Given the description of an element on the screen output the (x, y) to click on. 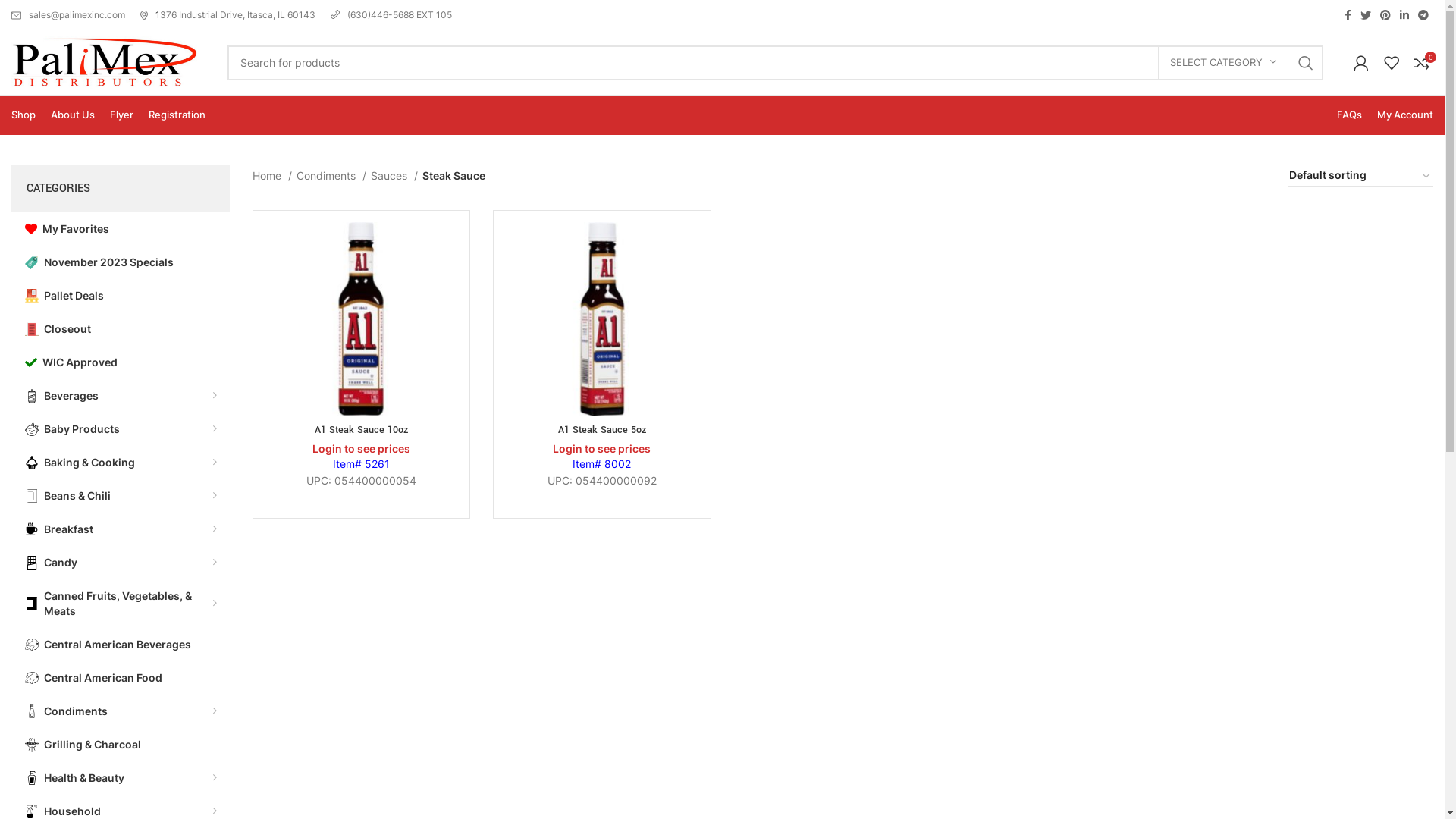
price-tag-svgrepo-com Element type: hover (31, 262)
Beverages Element type: text (120, 395)
door-svgrepo-com (1) Element type: hover (31, 328)
My Wishlist Element type: hover (1391, 62)
Login to see prices Element type: text (601, 448)
baby-svgrepo-com Element type: hover (31, 429)
Condiments Element type: text (330, 175)
Baking & Cooking Element type: text (120, 462)
November 2023 Specials Element type: text (120, 262)
Baby Products Element type: text (120, 428)
Beans & Chili Element type: text (120, 495)
Registration Element type: text (176, 115)
Home Element type: text (271, 175)
A1 Steak Sauce 5oz Element type: text (602, 429)
My Account Element type: text (1405, 115)
chocolate-svgrepo-com (1) Element type: hover (31, 562)
Health & Beauty Element type: text (120, 777)
Central American Food Element type: text (120, 677)
My Favorites Element type: text (120, 228)
breakfast-hot-drink-coffee-svgrepo-com Element type: hover (31, 529)
Condiments Element type: text (120, 711)
canned-food-tinned-food Element type: hover (31, 603)
Closeout Element type: text (120, 328)
Sauces Element type: text (393, 175)
WIC Approved Element type: text (120, 362)
Shop Element type: text (23, 115)
soda-drink-svgrepo-com Element type: hover (31, 395)
canned-food-food-and-restaurant-svgrepo-com Element type: hover (31, 495)
international-flights-hand-drawn-outline-svgrepo-com Element type: hover (31, 644)
SELECT CATEGORY Element type: text (1222, 62)
cupcake-1-svgrepo-com Element type: hover (31, 462)
My account Element type: hover (1361, 62)
0 Element type: text (1421, 62)
Grilling & Charcoal Element type: text (120, 744)
SEARCH Element type: text (1305, 62)
1 Element type: text (150, 14)
ketchup-svgrepo-com (1) Element type: hover (31, 711)
Pallet Deals Element type: text (120, 295)
international-flights-hand-drawn-outline-svgrepo-com Element type: hover (31, 677)
About Us Element type: text (72, 115)
Search for products Element type: hover (775, 62)
shampoo-svgrepo-com Element type: hover (31, 777)
Flyer Element type: text (121, 115)
Login to see prices Element type: text (361, 448)
cleaning-spray-svgrepo-com Element type: hover (31, 811)
Candy Element type: text (120, 562)
boxes-parcel-svgrepo-com Element type: hover (31, 295)
grill-svgrepo-com (1) Element type: hover (31, 744)
A1 Steak Sauce 10oz Element type: text (360, 429)
Breakfast Element type: text (120, 529)
Central American Beverages Element type: text (120, 644)
Canned Fruits, Vegetables, & Meats Element type: text (120, 603)
FAQs Element type: text (1348, 115)
